Given the description of an element on the screen output the (x, y) to click on. 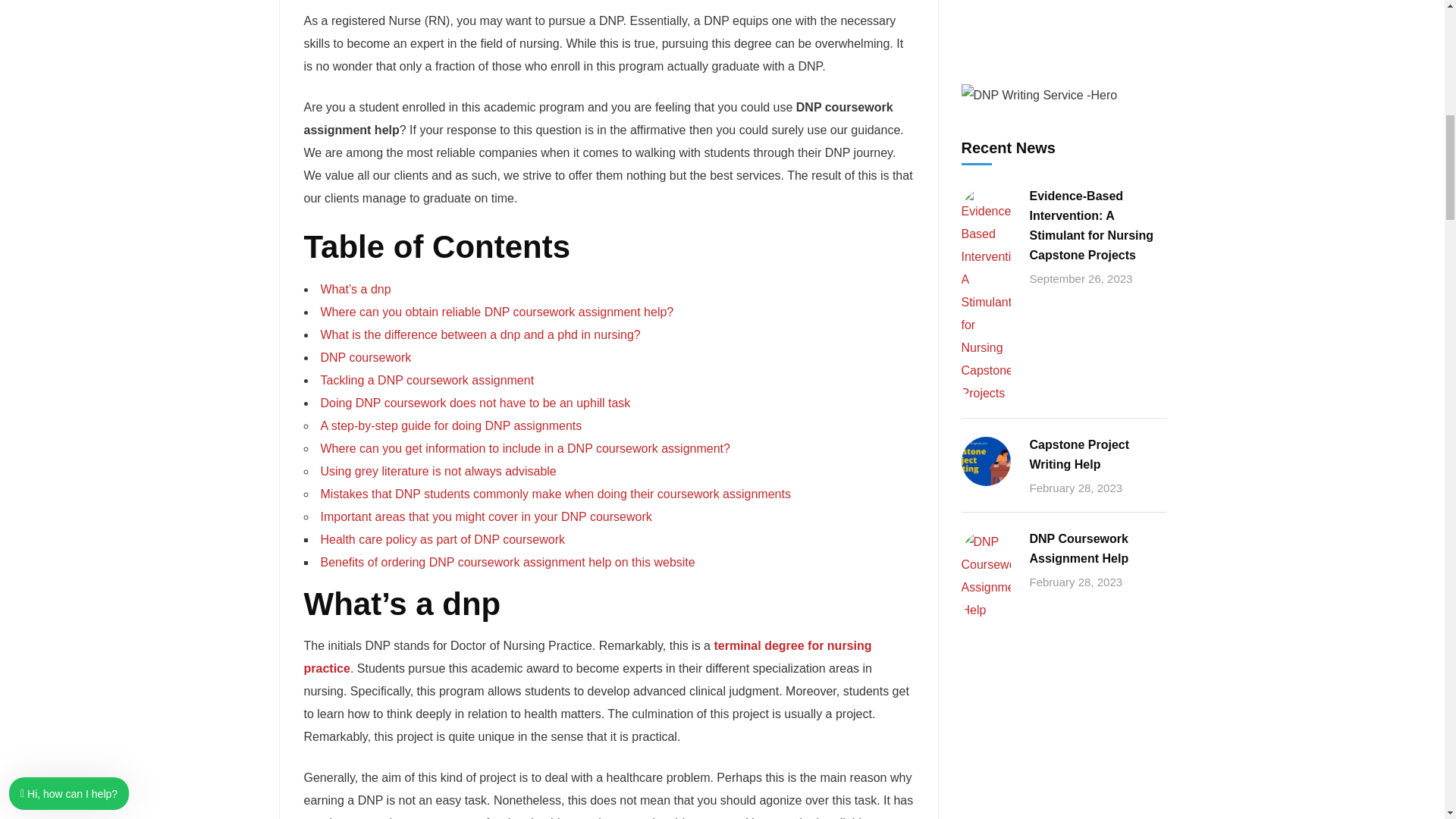
What is the difference between a dnp and a phd in nursing? (480, 334)
Tackling a DNP coursework assignment (427, 379)
DNP coursework (365, 357)
Doing DNP coursework does not have to be an uphill task (475, 402)
